Given the description of an element on the screen output the (x, y) to click on. 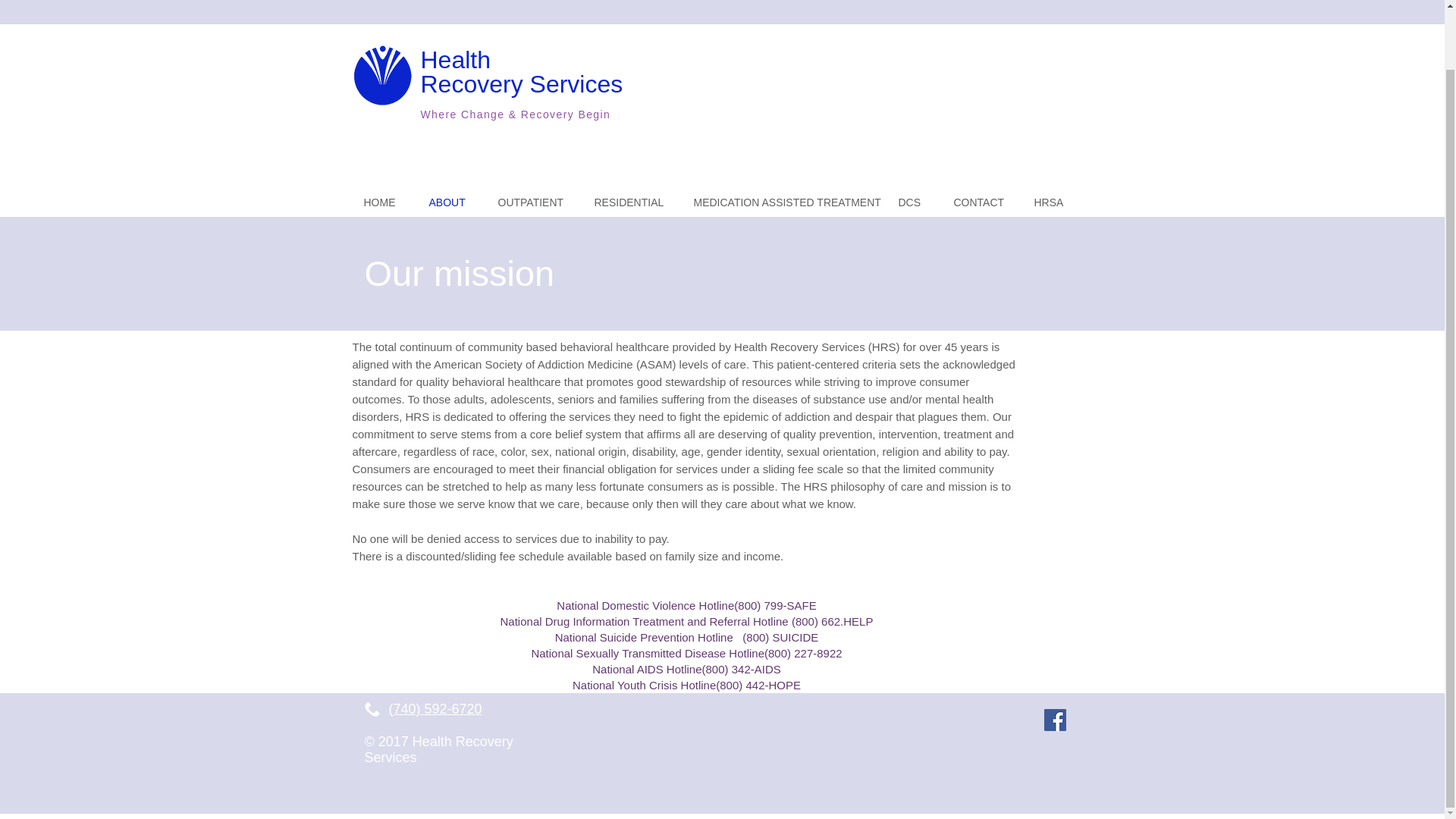
HRSA (1053, 203)
Recovery Services (521, 83)
HOME (384, 203)
ABOUT (451, 203)
CONTACT (982, 203)
Health (455, 59)
